Given the description of an element on the screen output the (x, y) to click on. 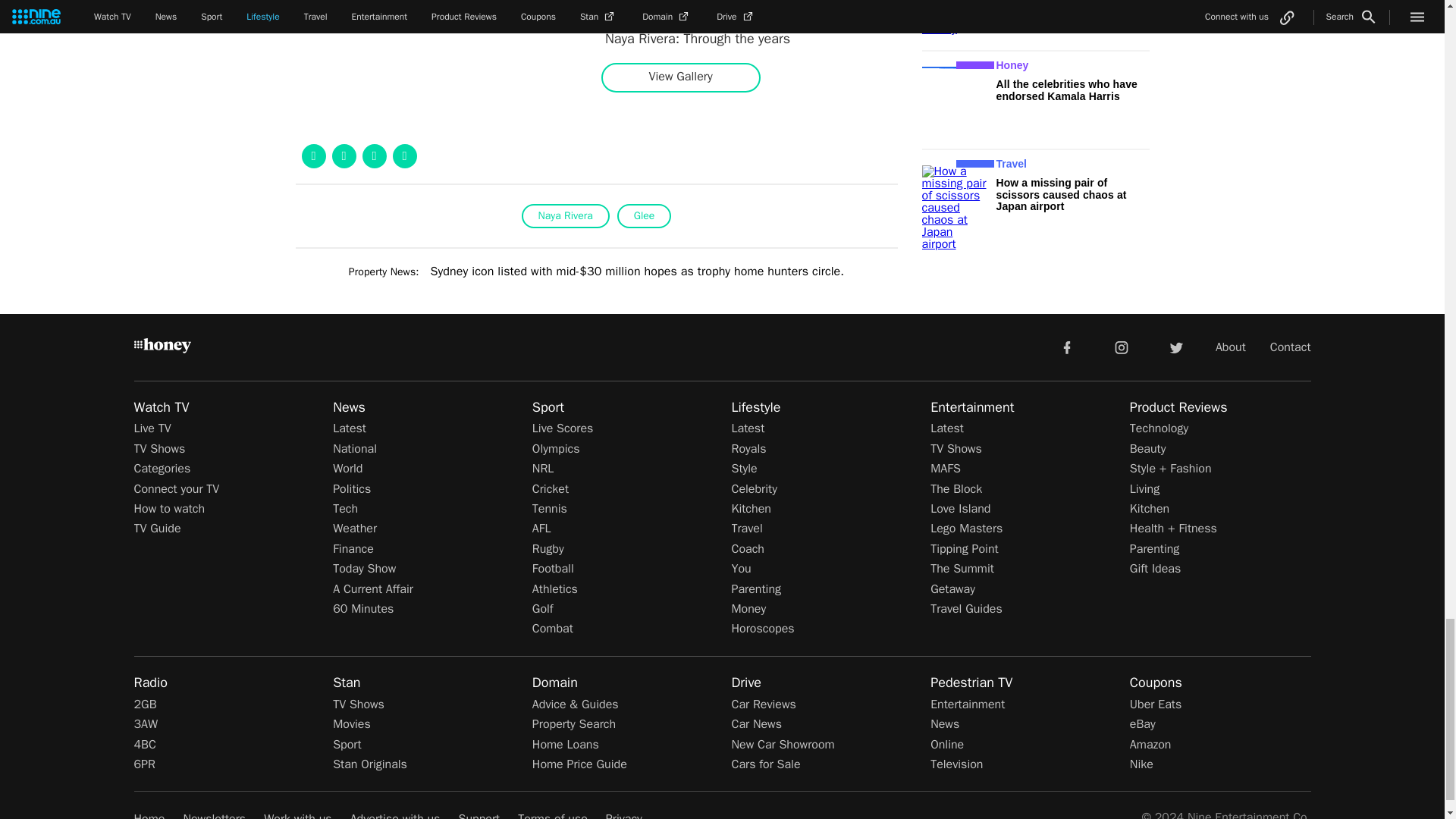
twitter (1175, 346)
facebook (1066, 346)
instagram (1121, 346)
